Given the description of an element on the screen output the (x, y) to click on. 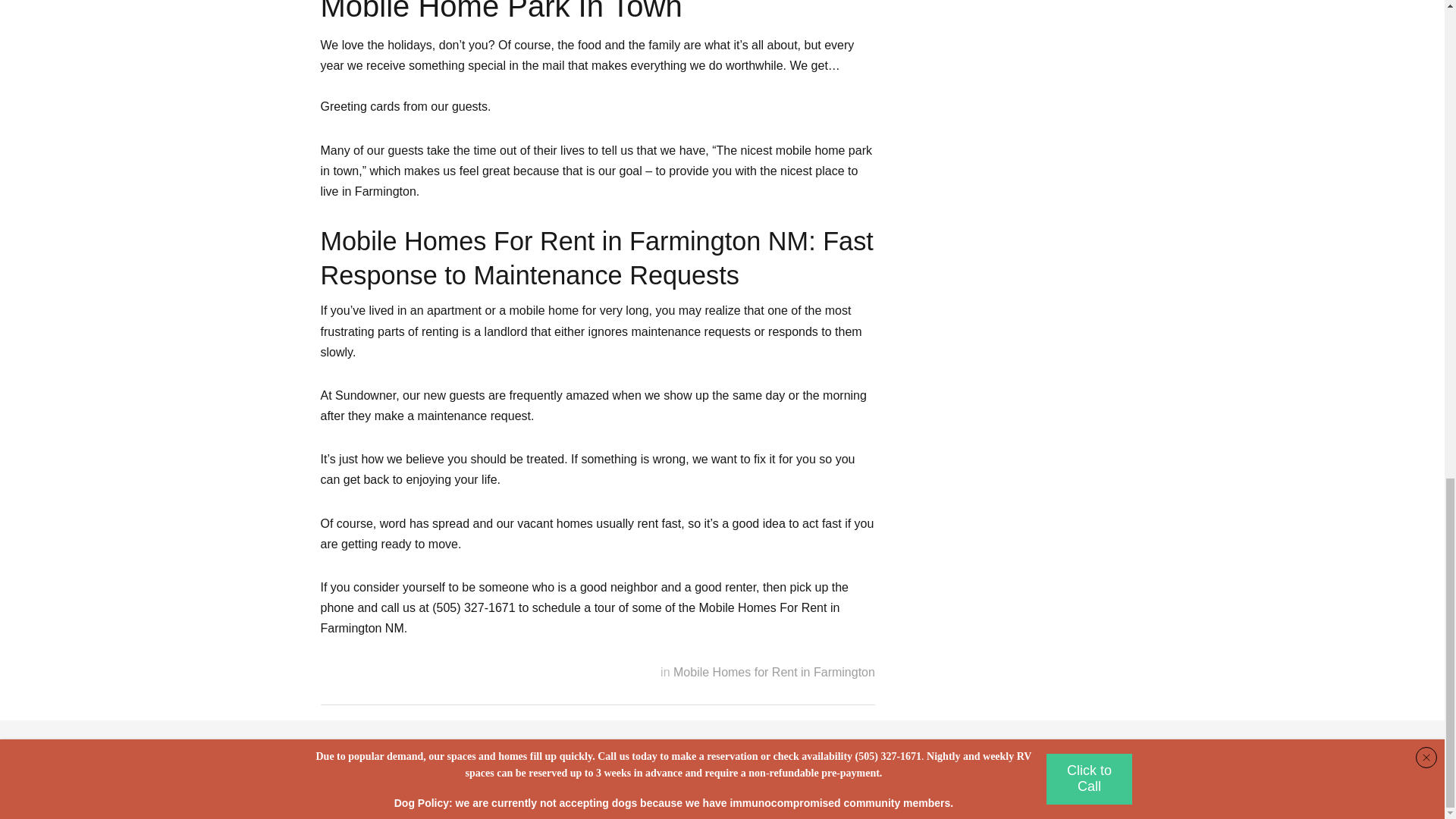
Job Openings in Farmington (898, 778)
Mobile Homes for Rent in Farmington (773, 671)
Privacy Policy (501, 778)
Contact Us (759, 778)
RV Park Marketing Experts (812, 794)
